Given the description of an element on the screen output the (x, y) to click on. 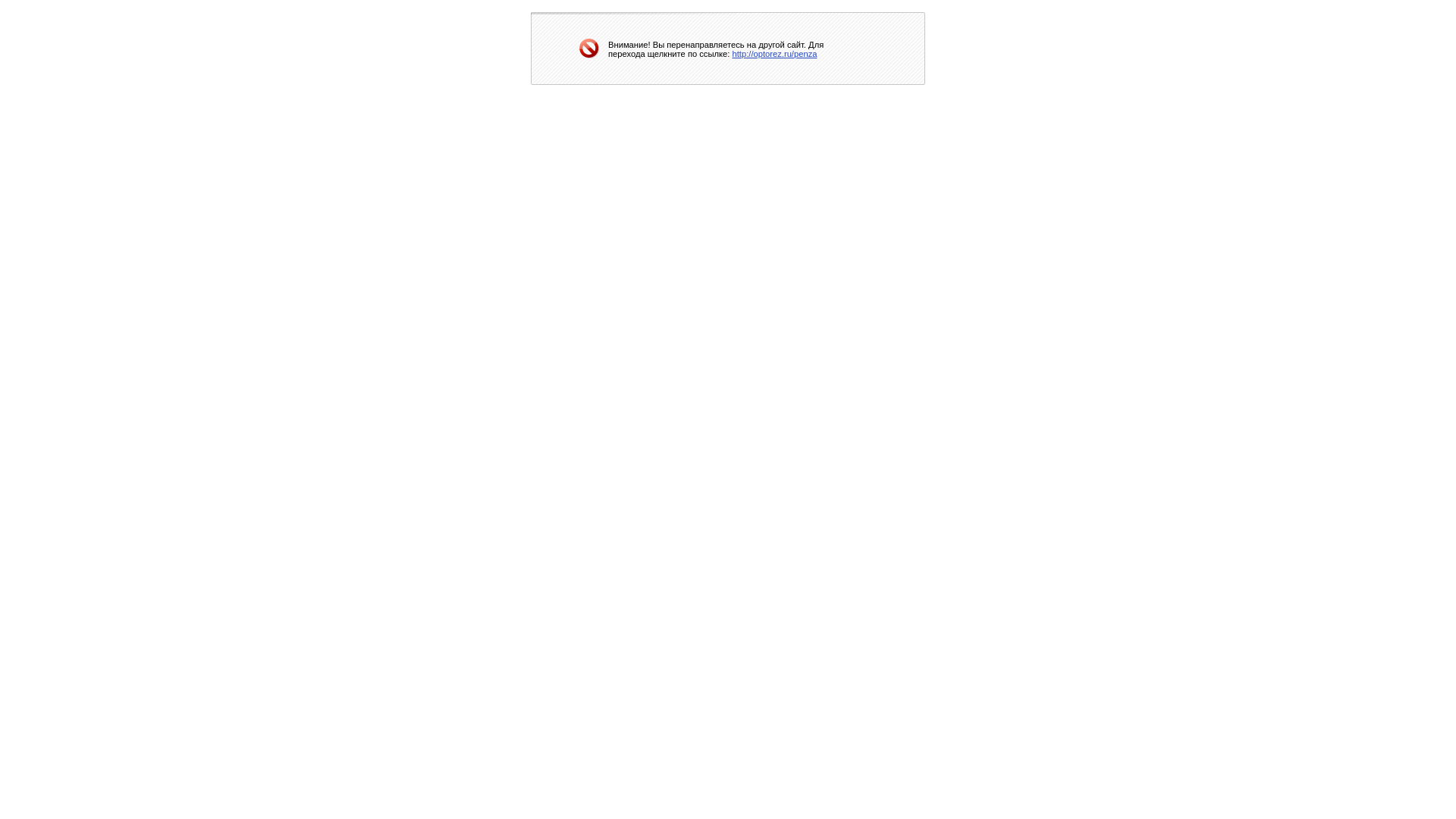
http://optorez.ru/penza Element type: text (774, 52)
